Given the description of an element on the screen output the (x, y) to click on. 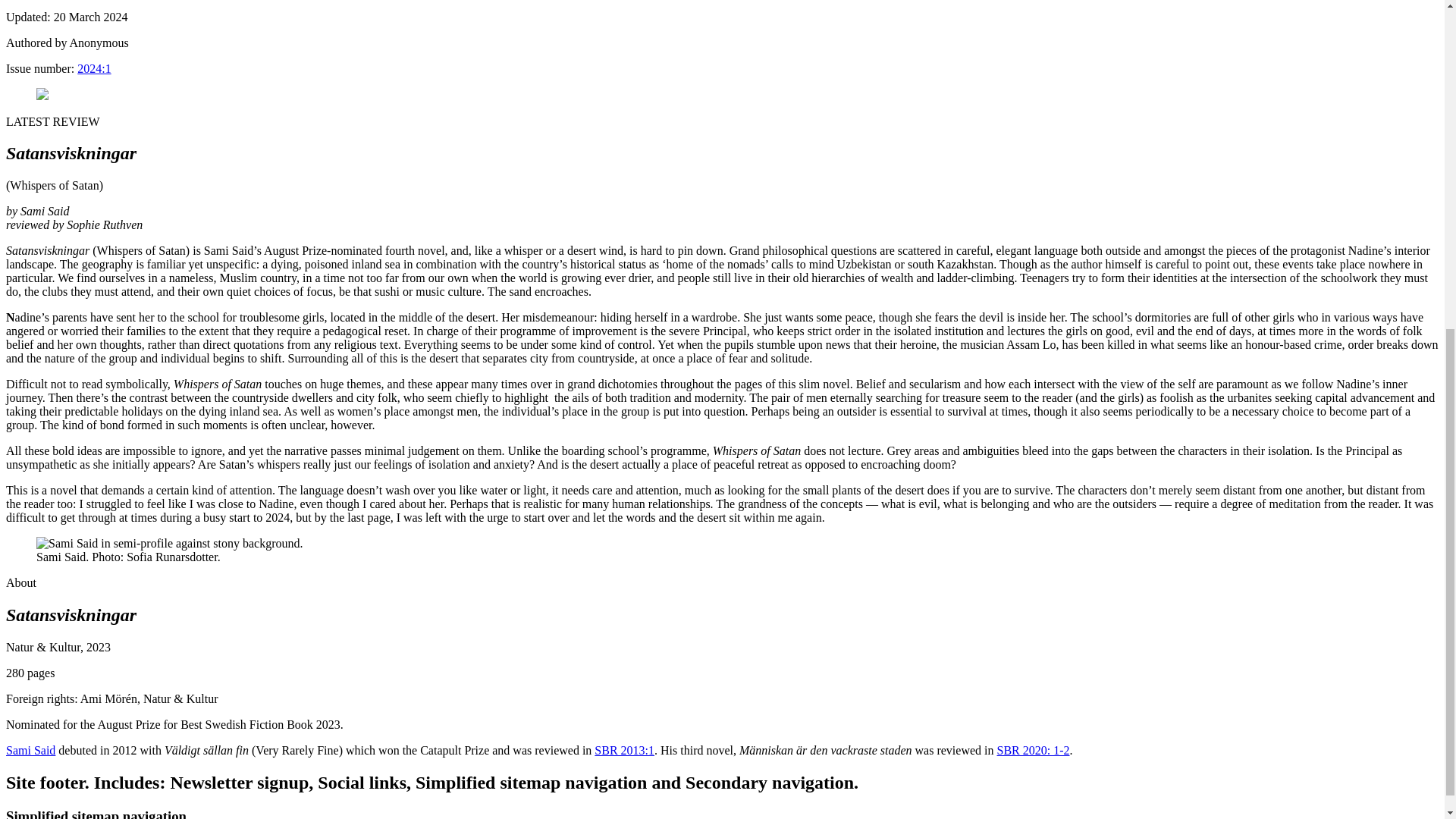
2024:1 (93, 68)
SBR 2013:1 (623, 749)
Sami Said (30, 749)
SBR 2020: 1-2 (1031, 749)
